Given the description of an element on the screen output the (x, y) to click on. 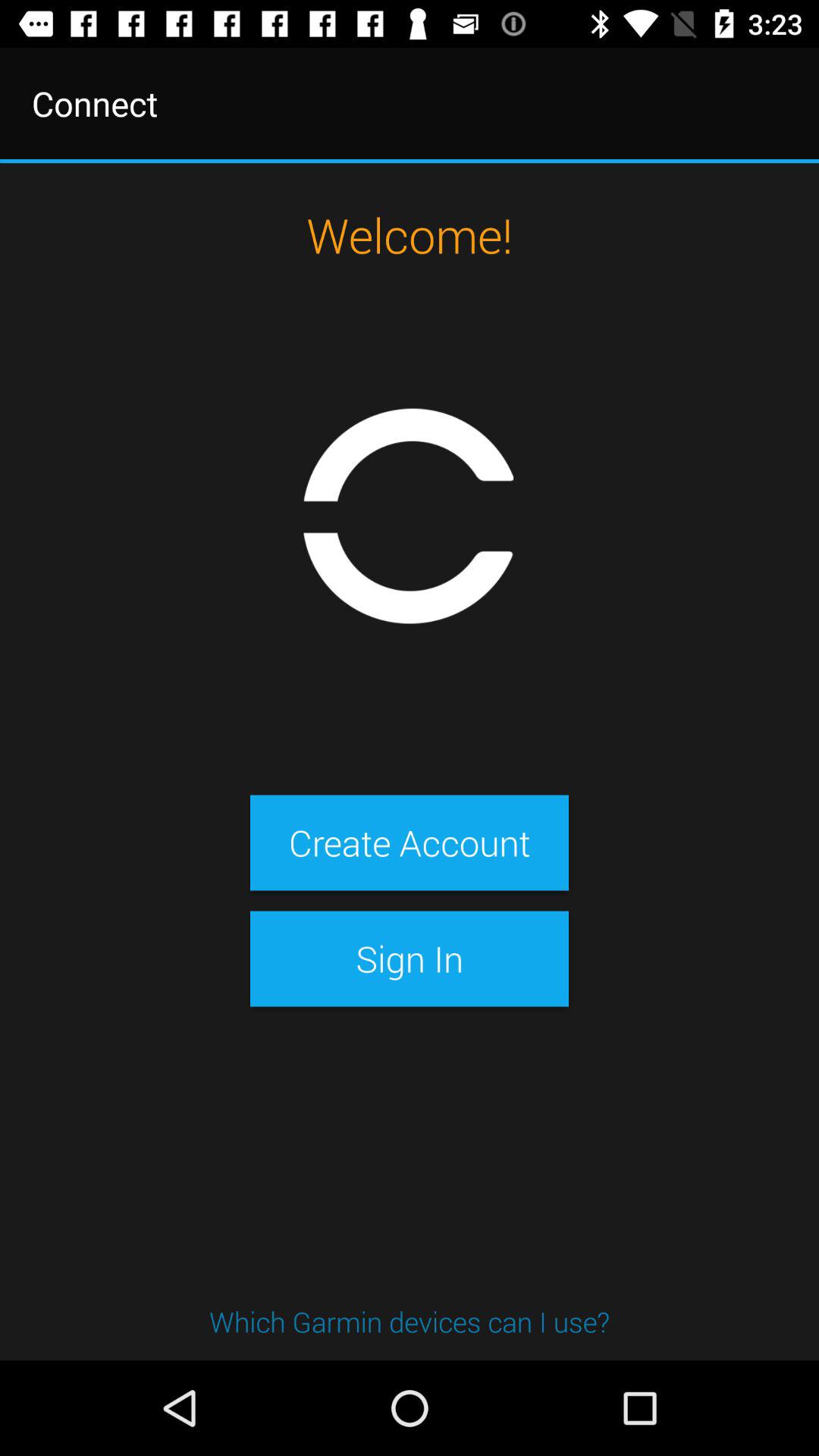
tap the item above the which garmin devices (409, 958)
